Given the description of an element on the screen output the (x, y) to click on. 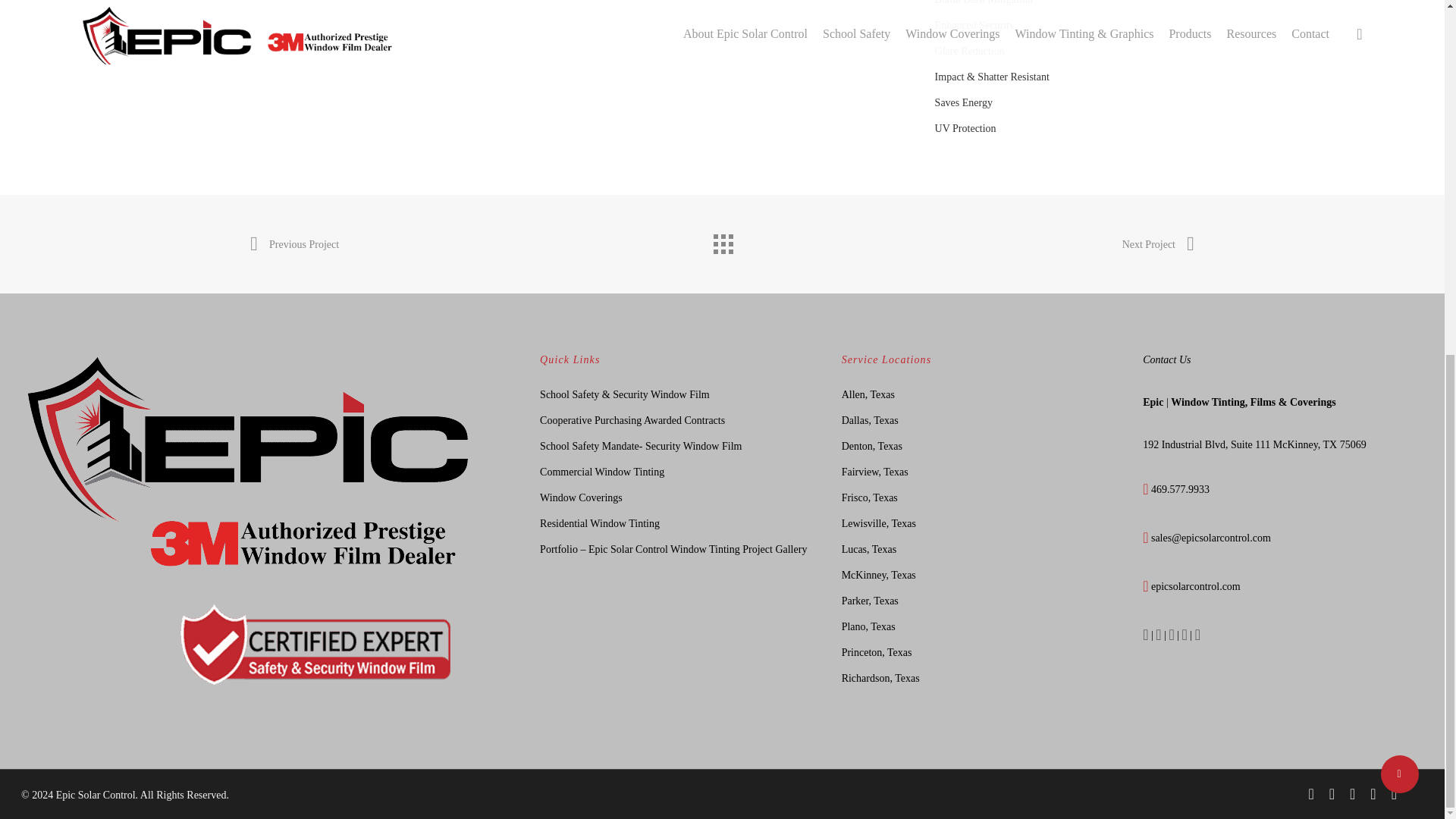
Back to all projects (721, 240)
